Given the description of an element on the screen output the (x, y) to click on. 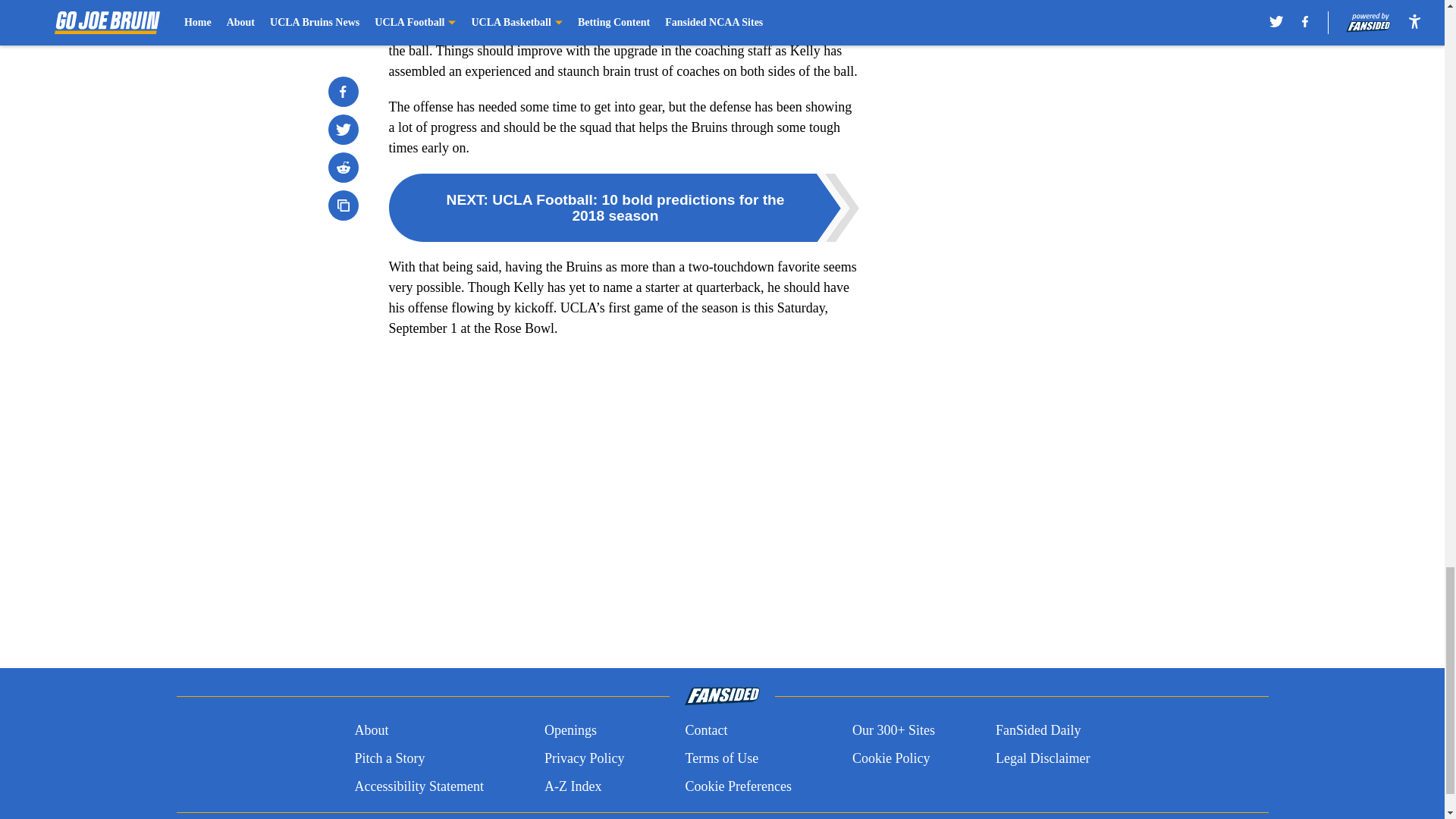
Cookie Policy (890, 758)
About (370, 730)
Openings (570, 730)
FanSided Daily (1038, 730)
Privacy Policy (584, 758)
Contact (705, 730)
NEXT: UCLA Football: 10 bold predictions for the 2018 season (623, 207)
Pitch a Story (389, 758)
Terms of Use (721, 758)
